Given the description of an element on the screen output the (x, y) to click on. 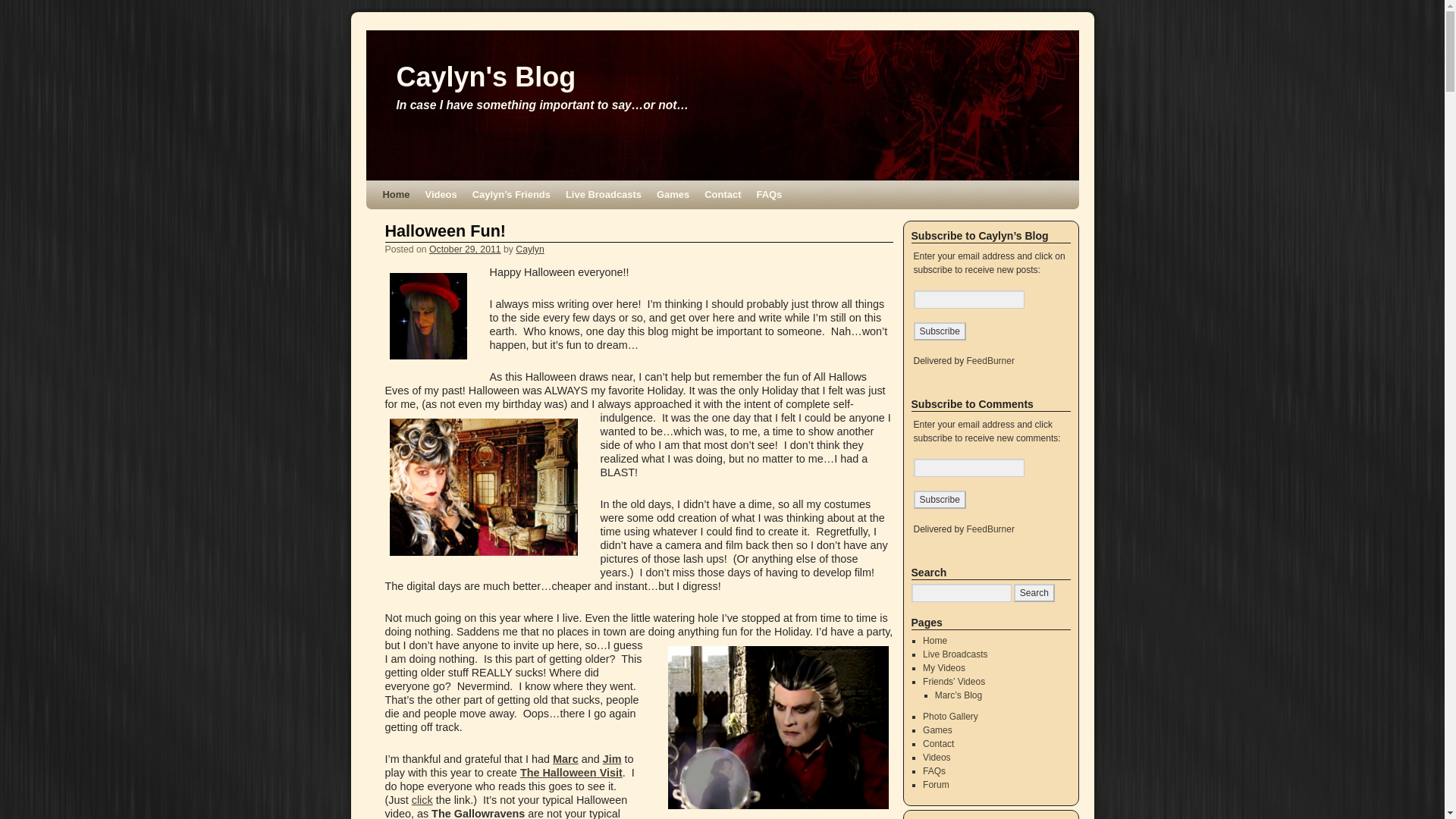
Halloween Fun! (445, 230)
View all posts by Caylyn (529, 249)
Videos (440, 194)
FAQs (768, 194)
Caylyn's Blog (485, 76)
Dementia 5 (483, 487)
Games (673, 194)
Caylyn (529, 249)
"The Halloween Visit" video (422, 799)
Subscribe (938, 331)
Jim's YouTube Channel (611, 758)
Jim (611, 758)
October 29, 2011 (464, 249)
5:58 pm (464, 249)
Caylyn (428, 315)
